Given the description of an element on the screen output the (x, y) to click on. 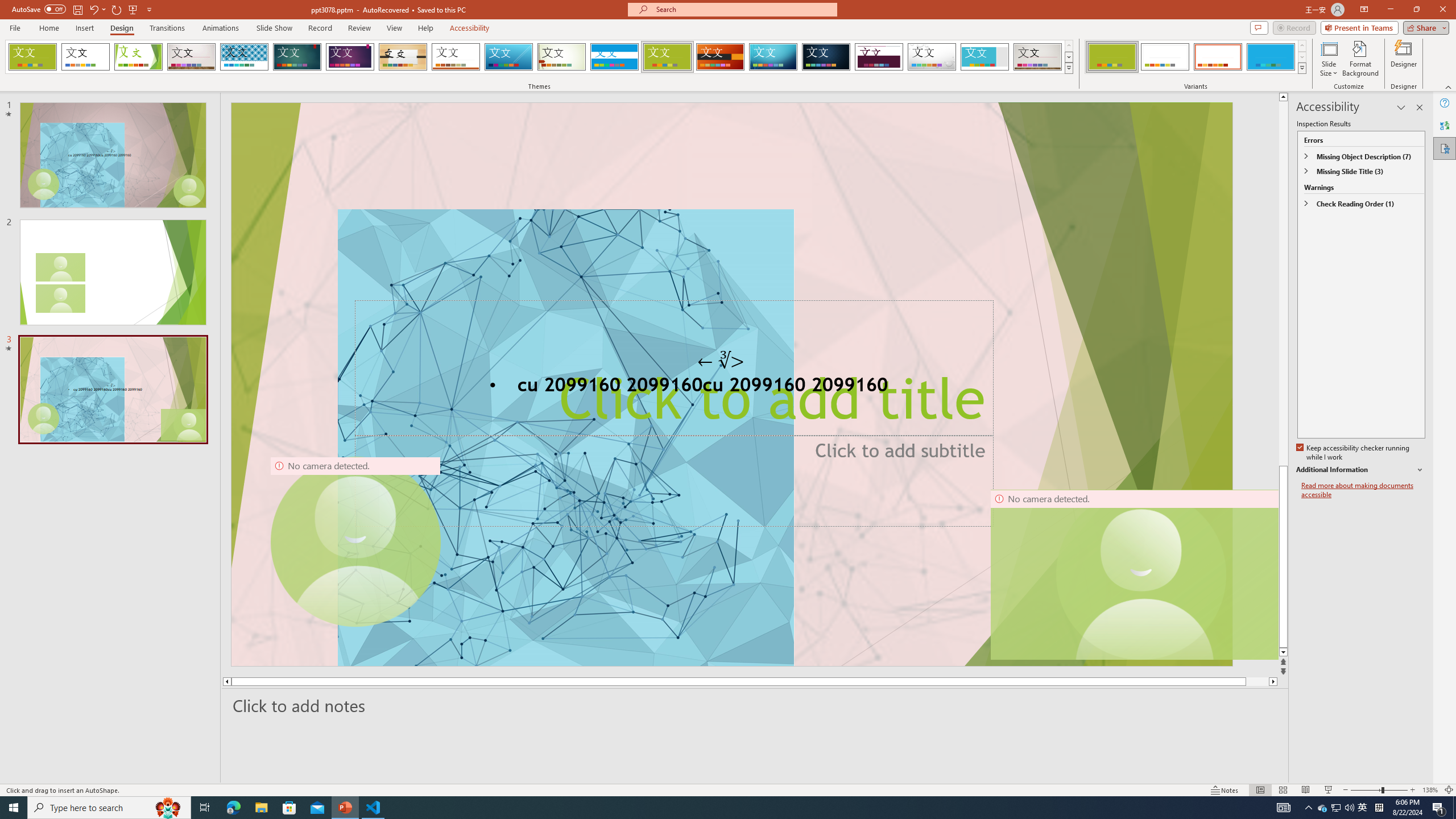
Banded (614, 56)
Basis Variant 1 (1112, 56)
Integral (244, 56)
